Given the description of an element on the screen output the (x, y) to click on. 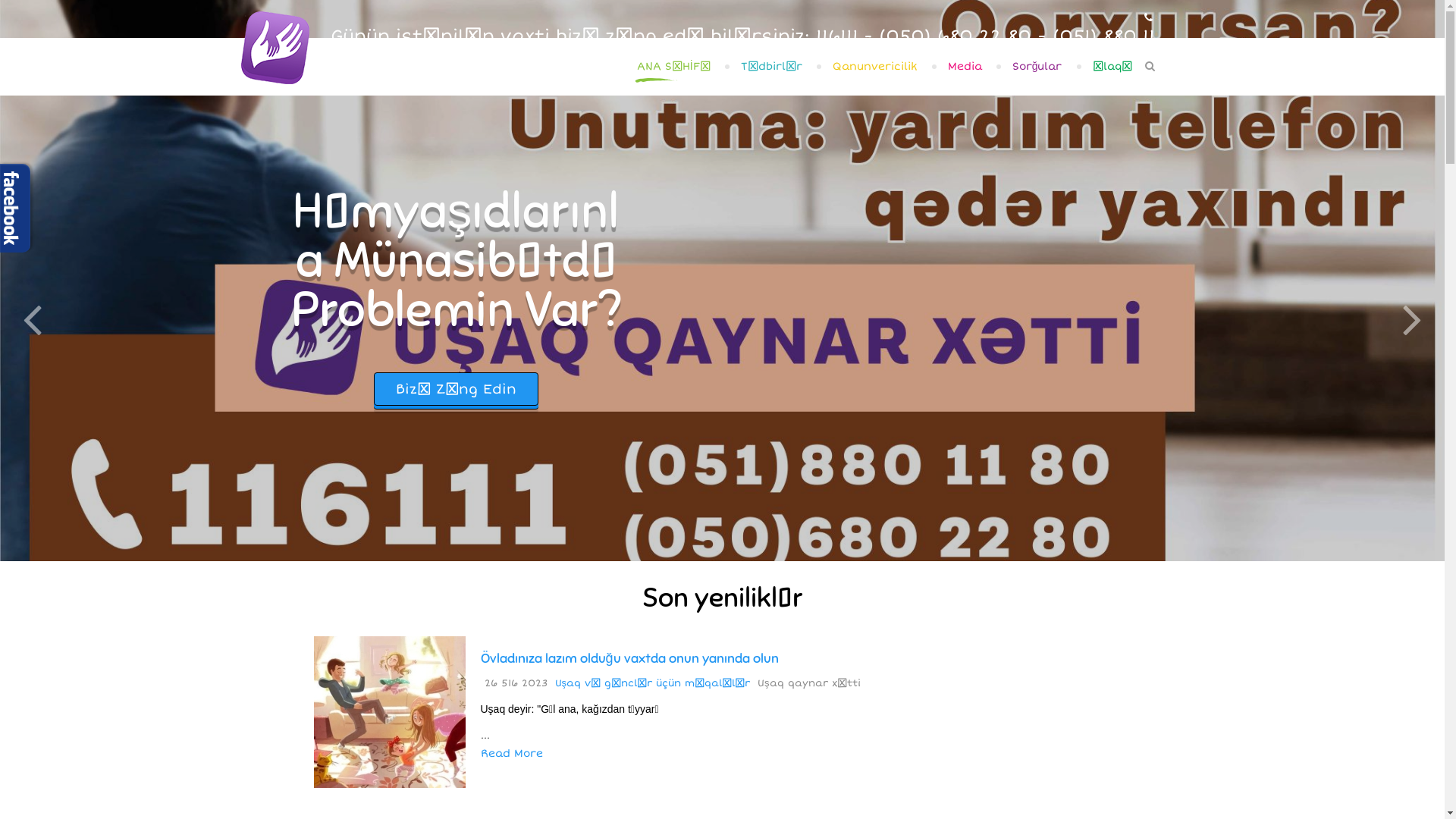
116111 Element type: text (836, 36)
Read More Element type: text (511, 752)
(050) 680 22 80 Element type: text (954, 36)
Qanunvericilik Element type: text (874, 66)
(051) 880 11 80 Element type: text (1103, 45)
Media Element type: text (964, 66)
